Given the description of an element on the screen output the (x, y) to click on. 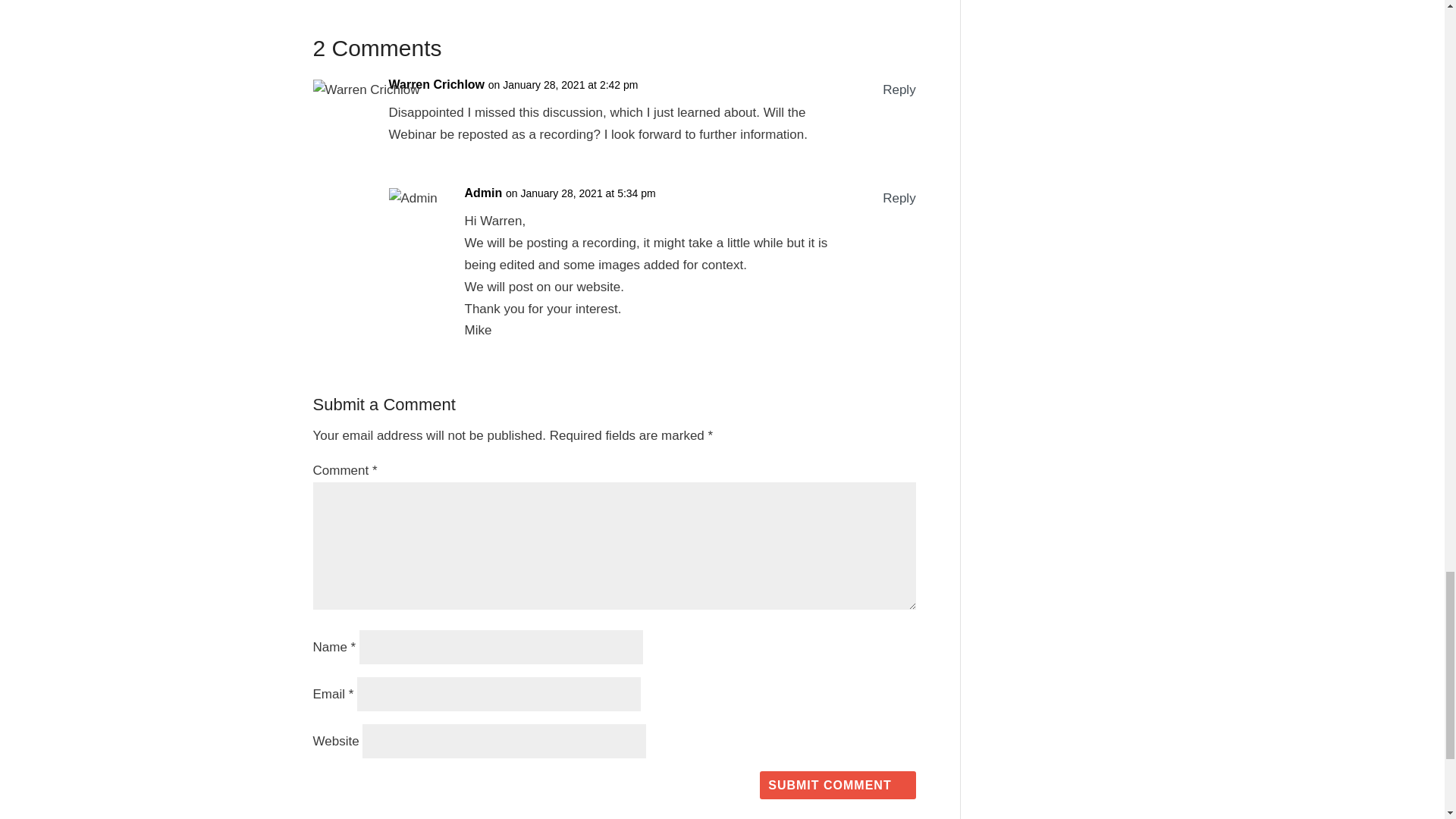
Reply (898, 90)
Reply (898, 198)
Submit Comment (837, 785)
Submit Comment (837, 785)
